Given the description of an element on the screen output the (x, y) to click on. 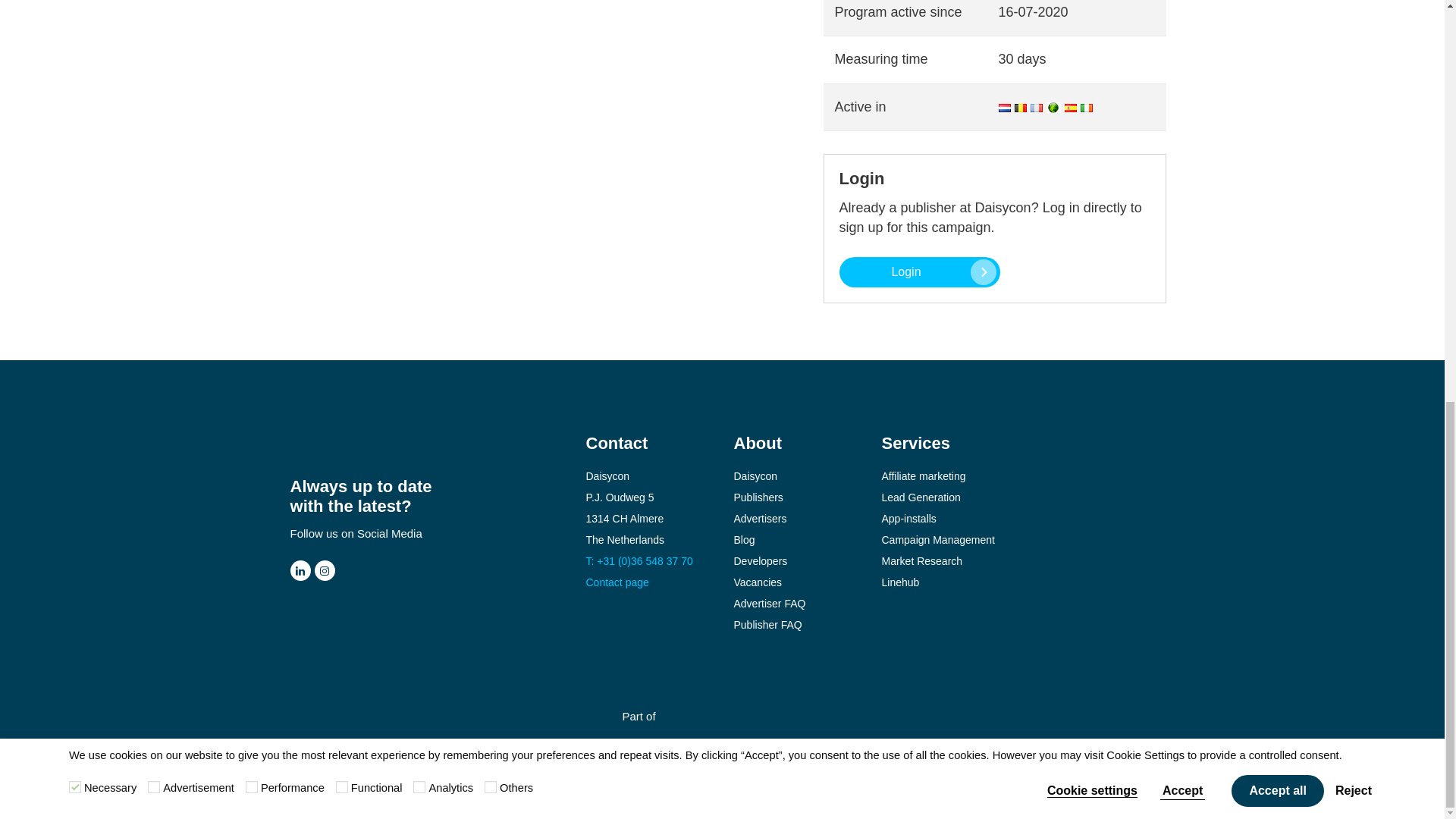
on (154, 2)
on (74, 2)
Login (918, 272)
on (419, 2)
on (251, 2)
on (341, 2)
on (490, 2)
